Given the description of an element on the screen output the (x, y) to click on. 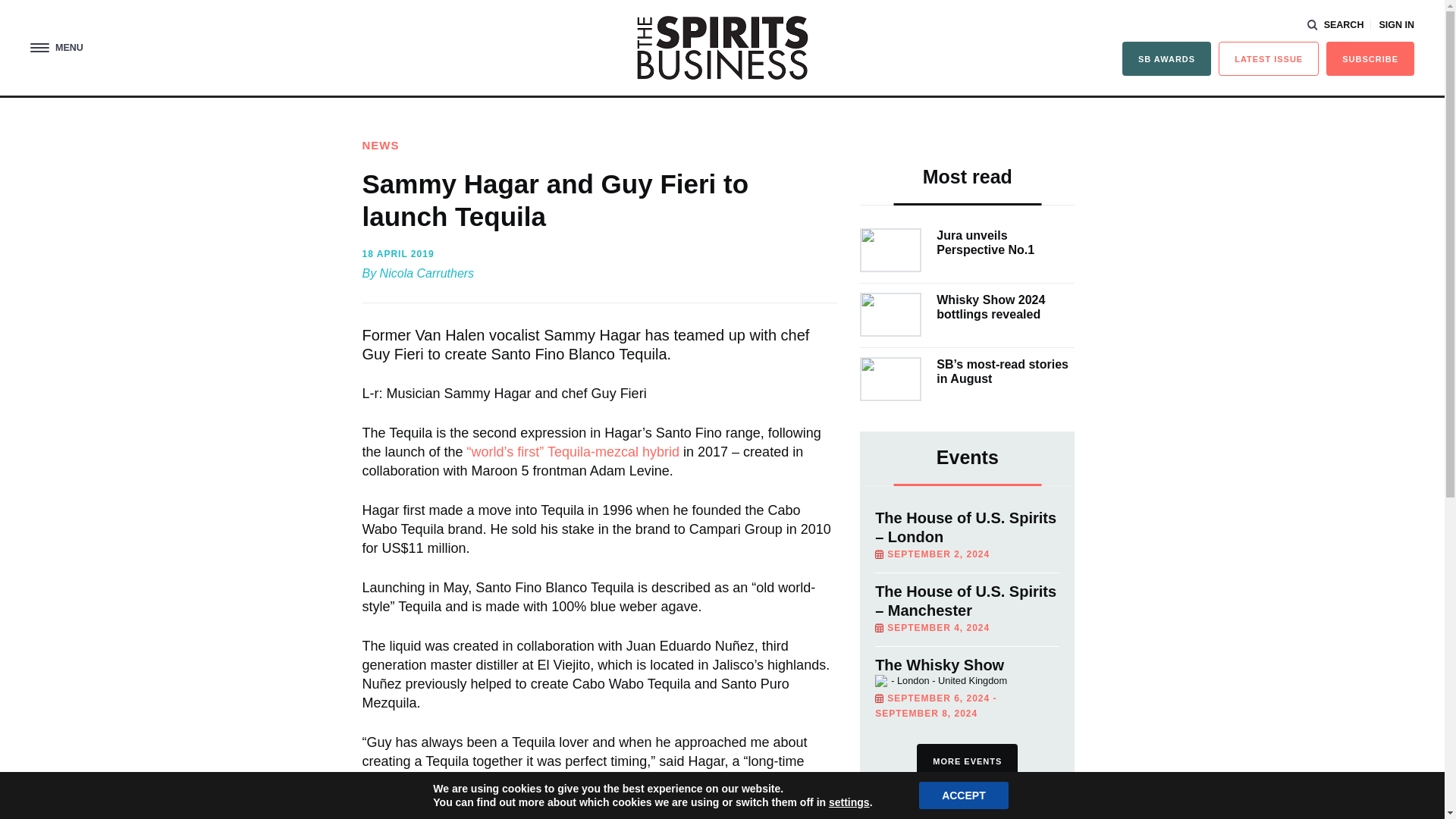
LATEST ISSUE (1268, 58)
SUBSCRIBE (1369, 58)
SIGN IN (1395, 25)
SB AWARDS (1166, 58)
The Spirits Business (722, 47)
